Given the description of an element on the screen output the (x, y) to click on. 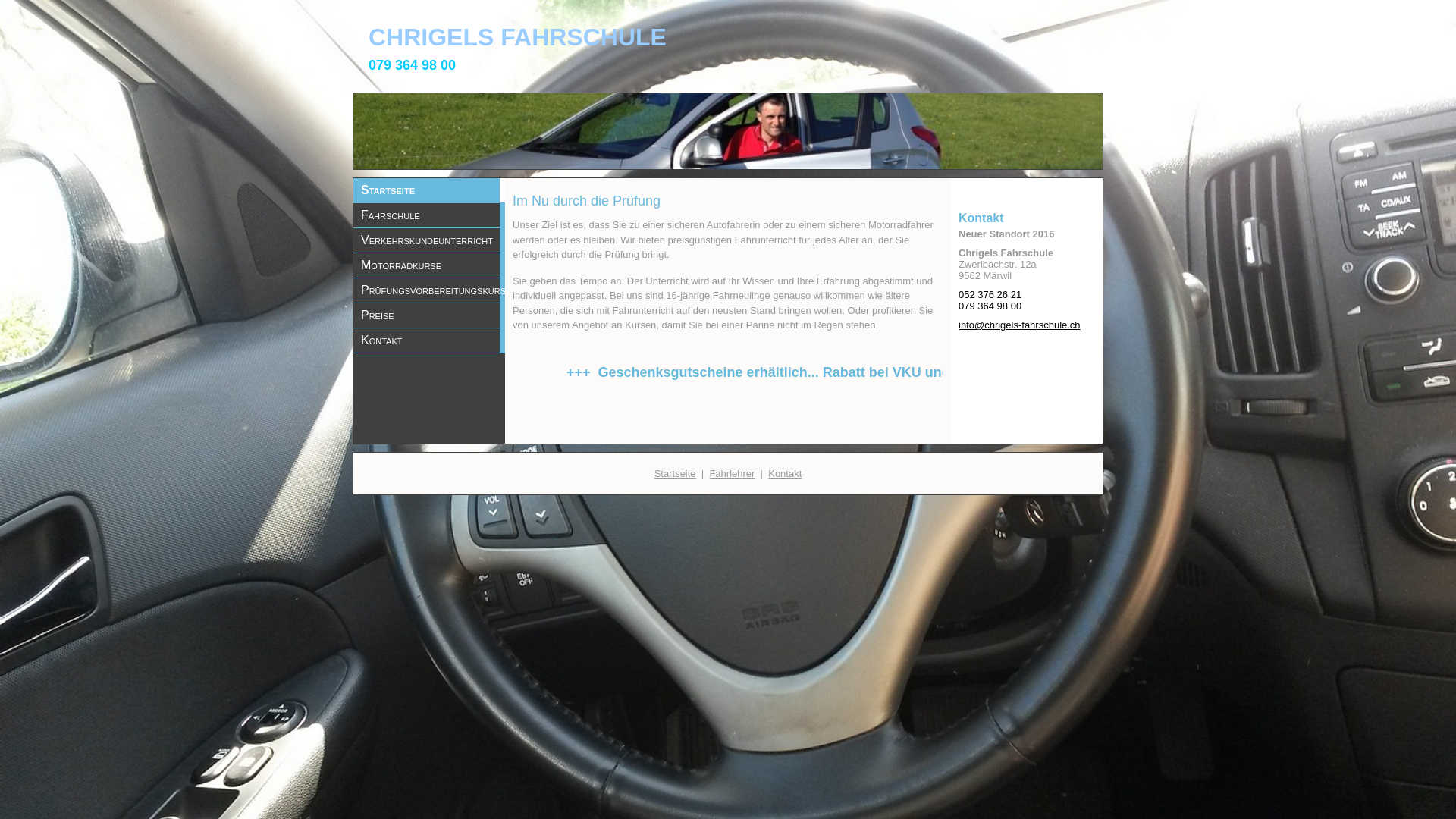
Verkehrskundeunterricht Element type: text (429, 240)
info@chrigels-fahrschule.ch Element type: text (1019, 324)
Fahrlehrer Element type: text (731, 472)
Startseite Element type: text (675, 472)
Kontakt Element type: text (429, 340)
Startseite Element type: text (429, 190)
Kontakt Element type: text (784, 472)
Preise Element type: text (429, 315)
Motorradkurse Element type: text (429, 265)
Fahrschule Element type: text (429, 215)
